Given the description of an element on the screen output the (x, y) to click on. 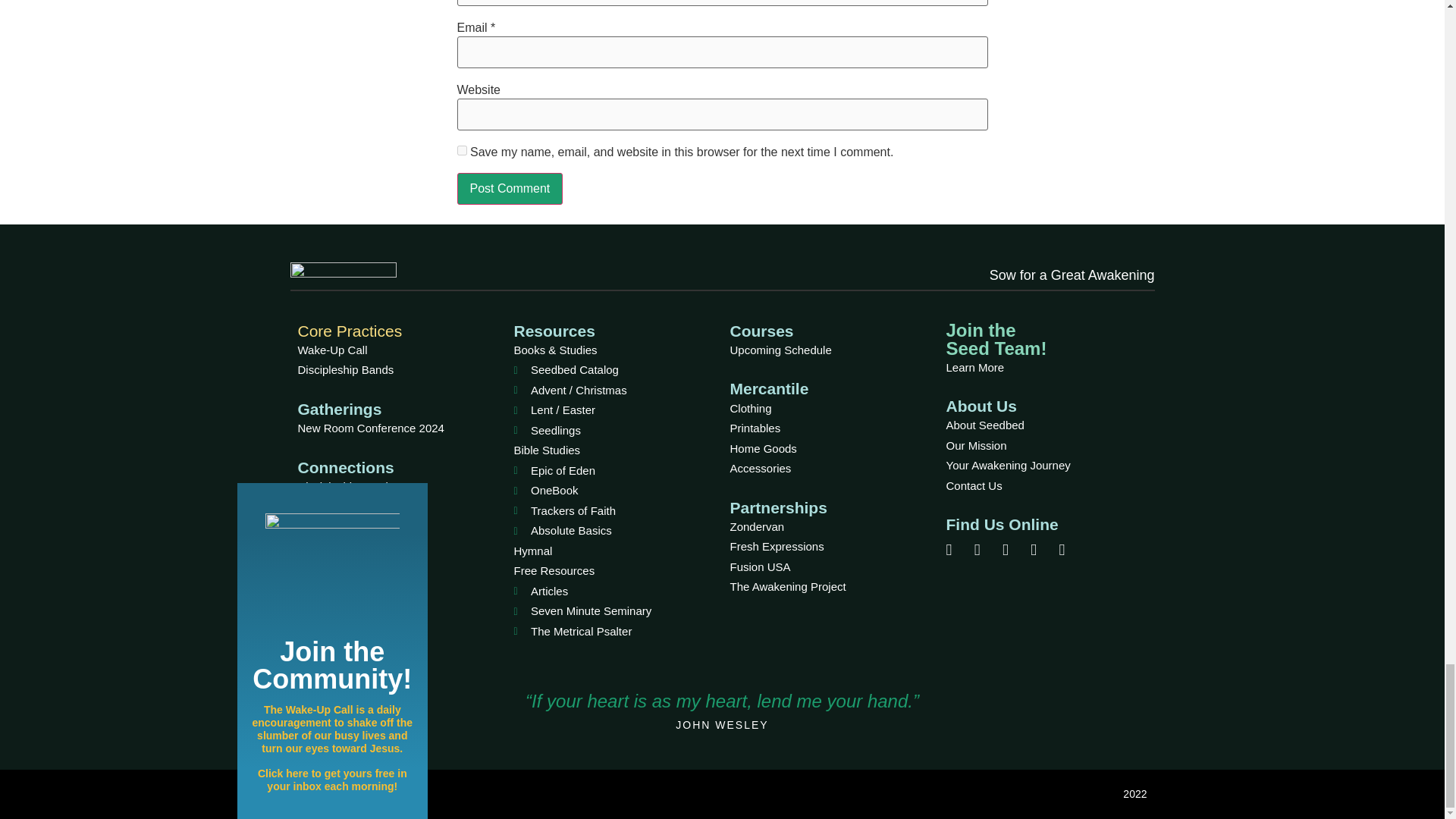
Post Comment (509, 188)
yes (461, 150)
